Given the description of an element on the screen output the (x, y) to click on. 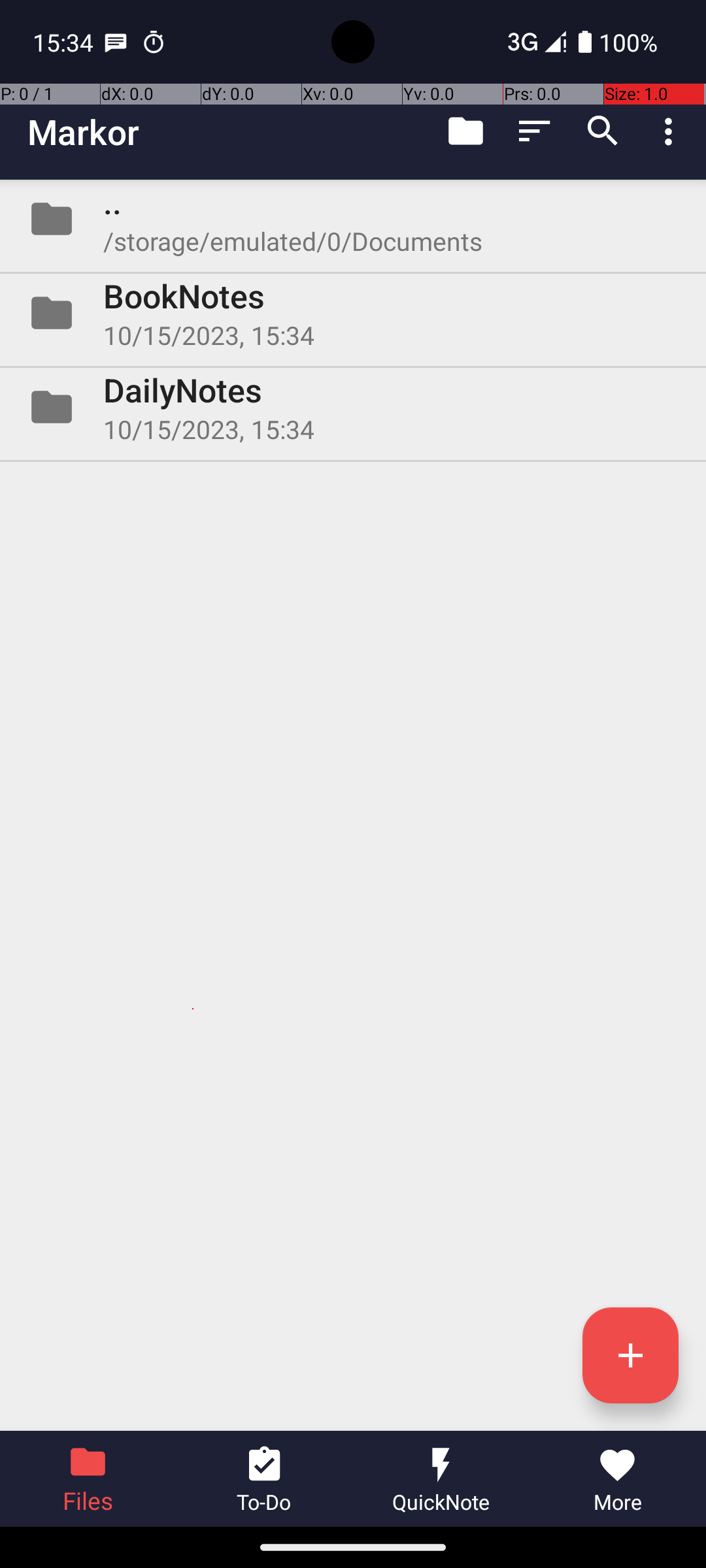
Folder BookNotes  Element type: android.widget.LinearLayout (353, 312)
Folder DailyNotes  Element type: android.widget.LinearLayout (353, 406)
